Given the description of an element on the screen output the (x, y) to click on. 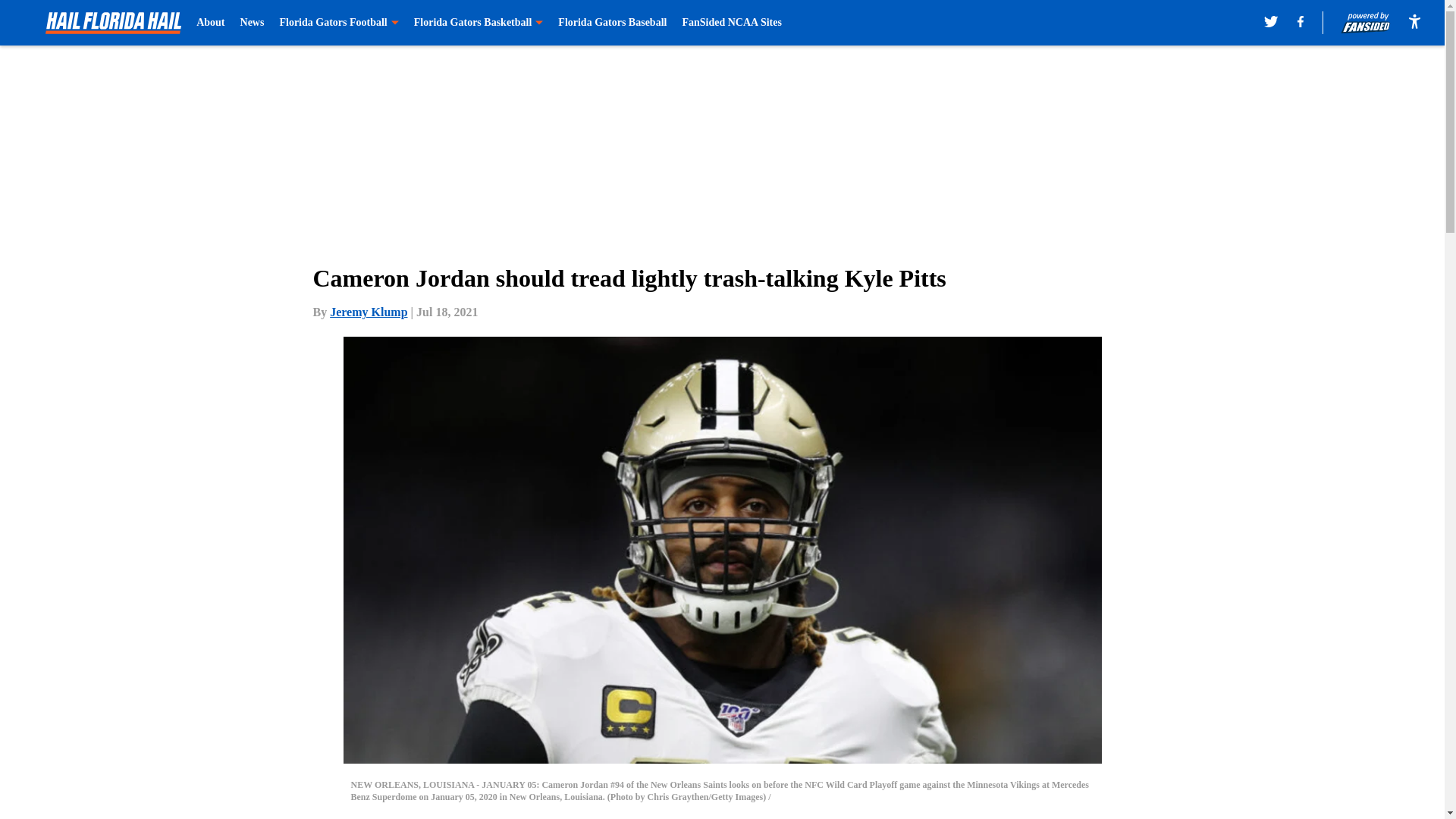
FanSided NCAA Sites (730, 22)
Jeremy Klump (368, 311)
Florida Gators Baseball (611, 22)
About (210, 22)
News (252, 22)
